Given the description of an element on the screen output the (x, y) to click on. 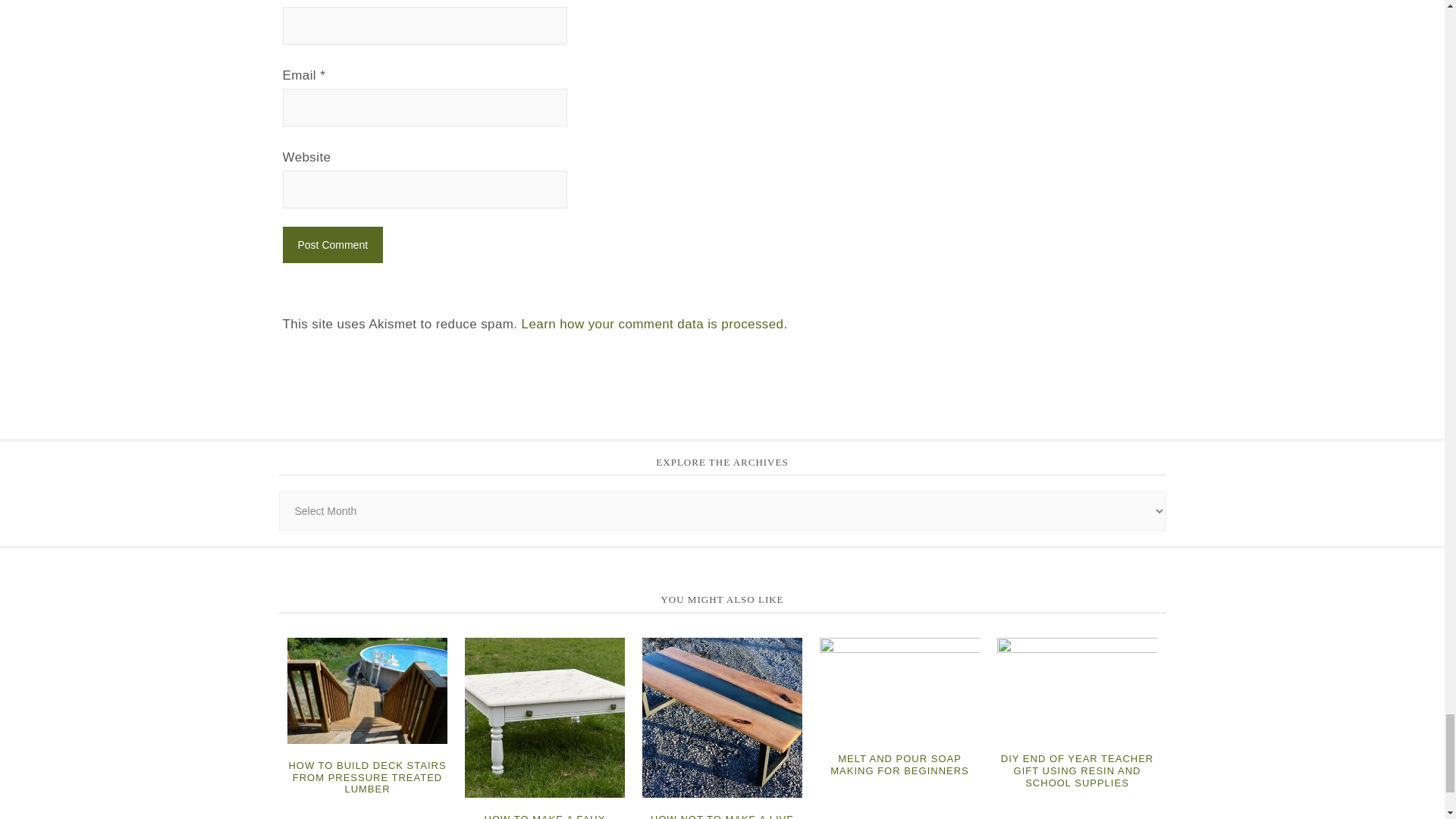
Learn how your comment data is processed (652, 323)
Post Comment (332, 244)
Post Comment (332, 244)
